Given the description of an element on the screen output the (x, y) to click on. 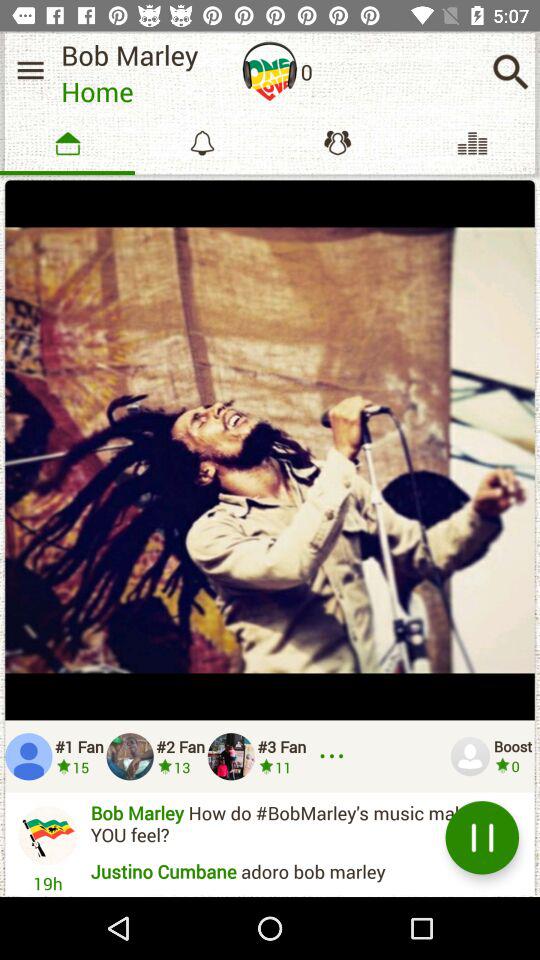
launch the item above bob marley how (335, 756)
